Given the description of an element on the screen output the (x, y) to click on. 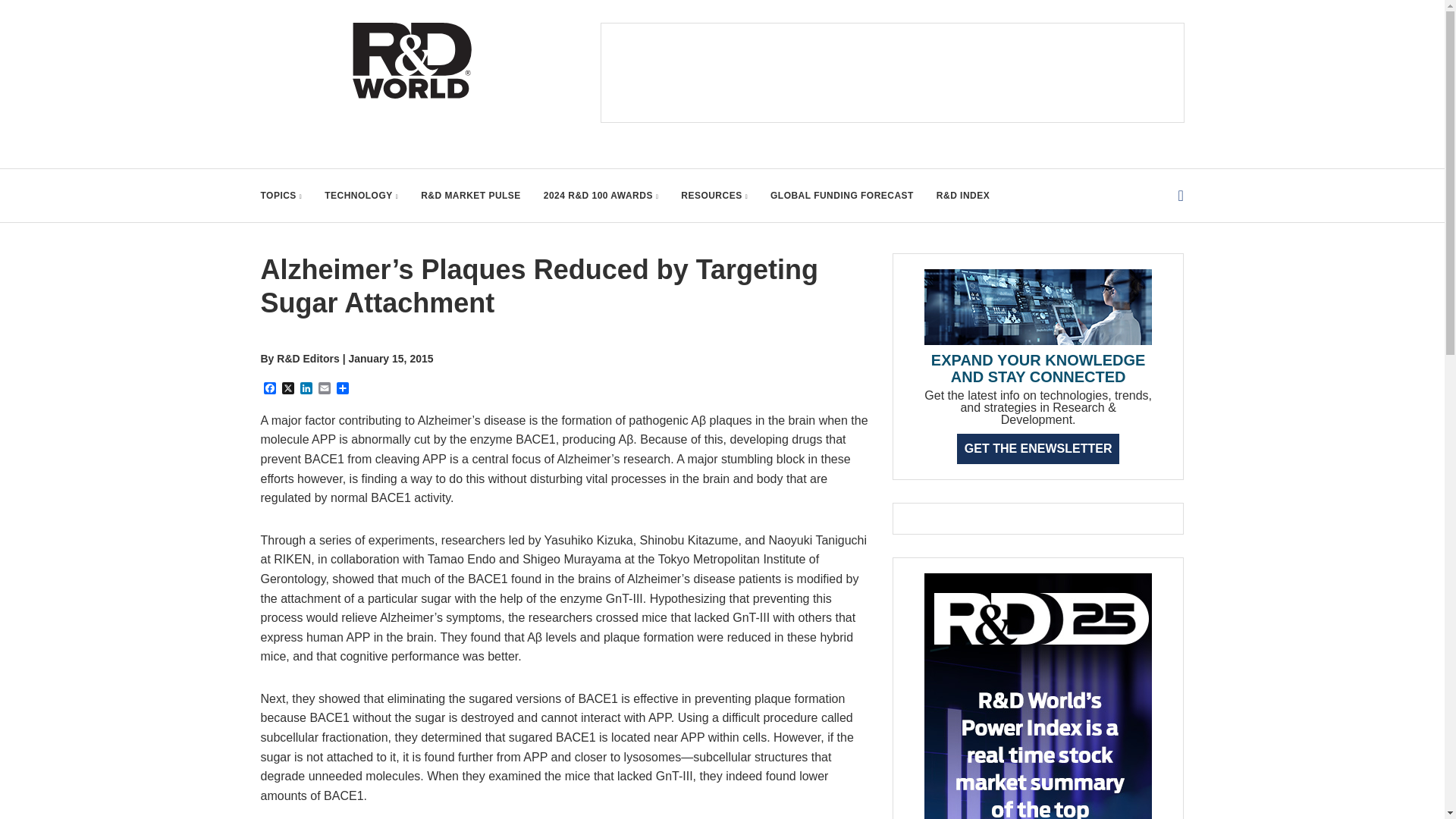
3rd party ad content (891, 72)
LinkedIn (306, 389)
RESOURCES (714, 194)
Email (324, 389)
X (288, 389)
Facebook (269, 389)
TECHNOLOGY (360, 194)
